Given the description of an element on the screen output the (x, y) to click on. 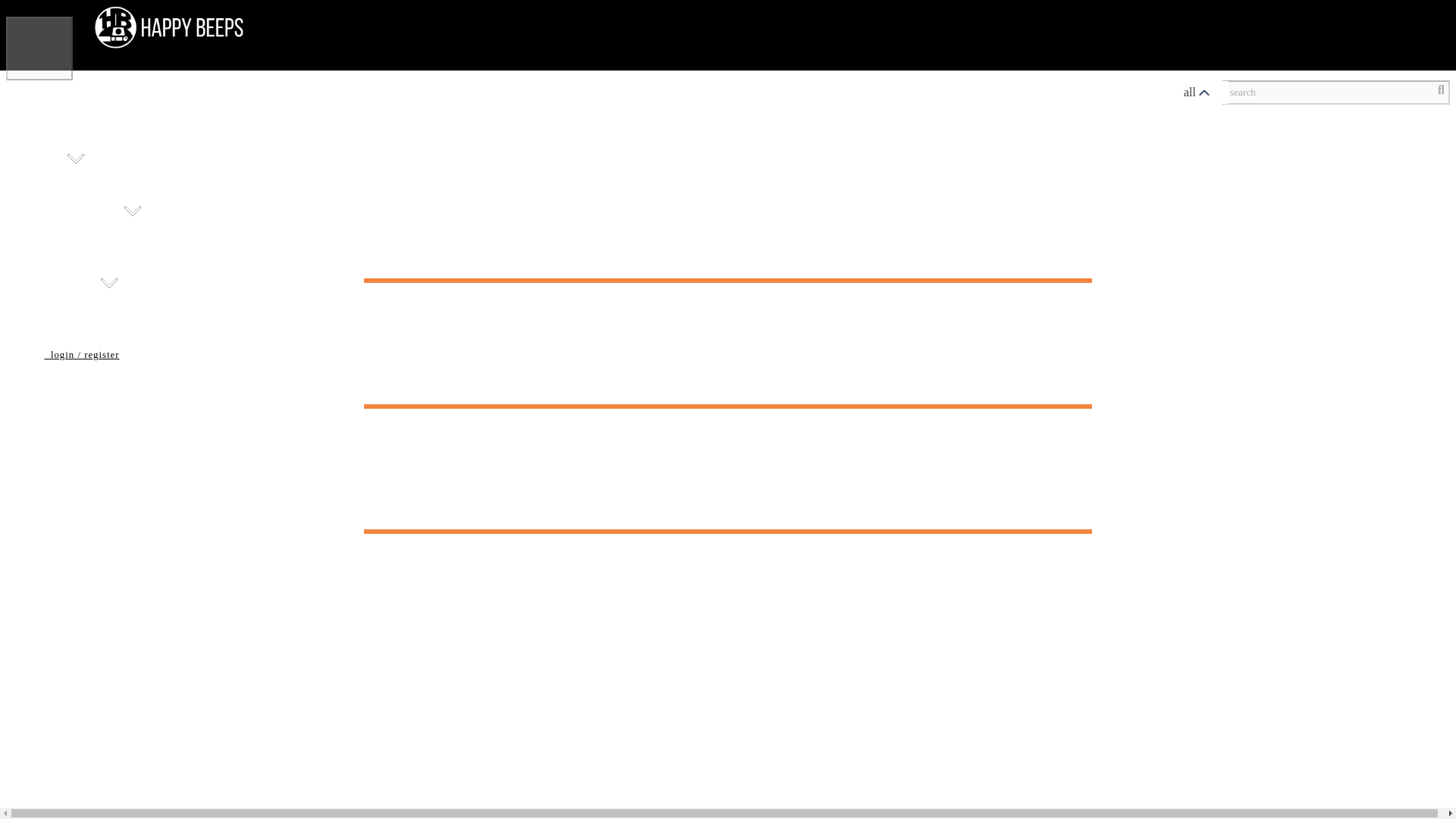
TIMELINE (688, 185)
PUBLISHING (80, 218)
VIEW FAVORITES (807, 238)
COMING SOON (332, 185)
HOME (38, 133)
PUBLISHERS (519, 238)
PRODUCT LINES (577, 185)
GALLERIES (59, 257)
HOME (38, 185)
Profile (1377, 43)
TIMELINE (693, 238)
CHARACTERS (452, 185)
TOYS (52, 166)
HOME (38, 238)
CHART OF THE DAY (92, 310)
